Given the description of an element on the screen output the (x, y) to click on. 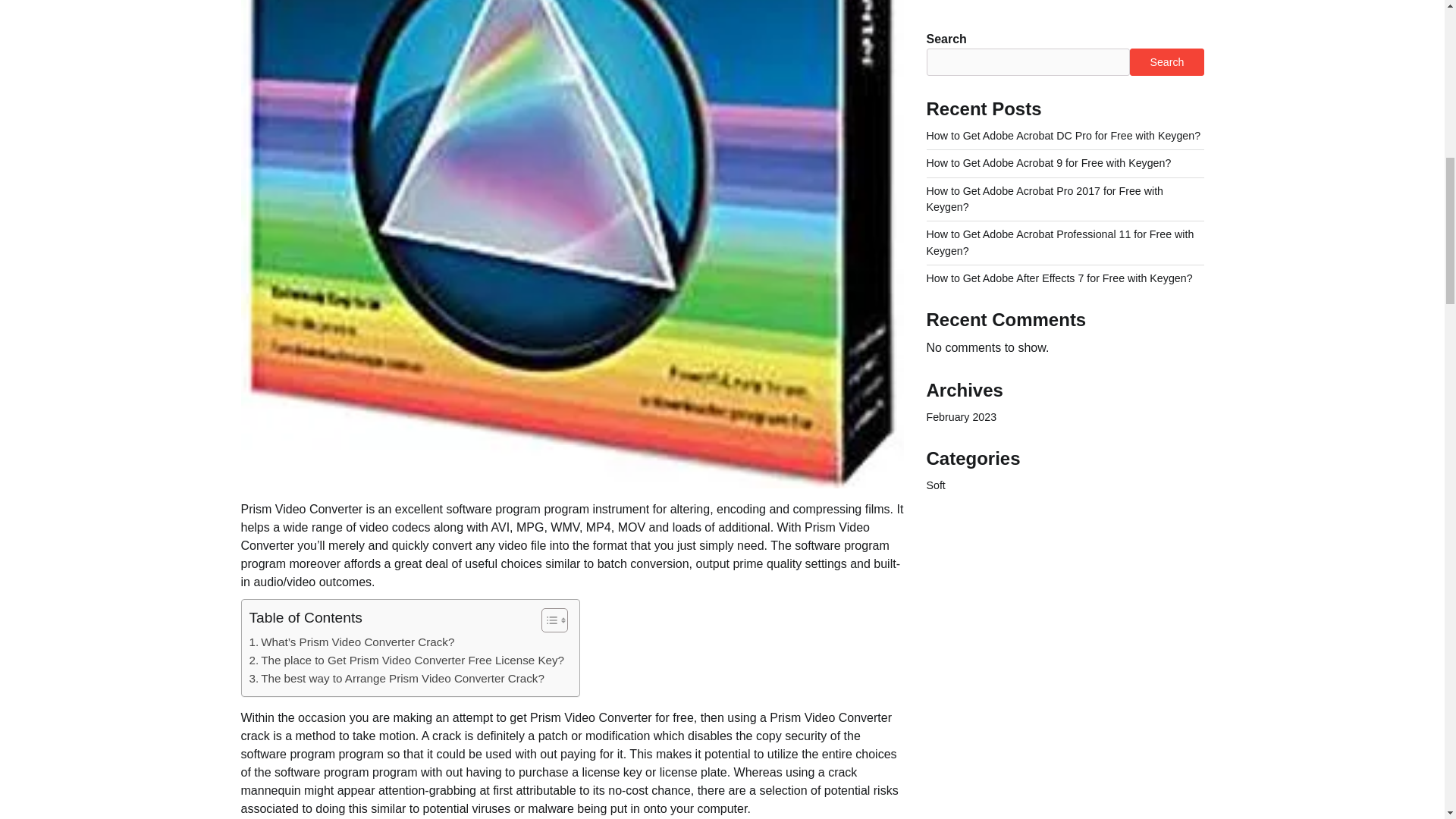
The best way to Arrange Prism Video Converter Crack? (395, 678)
The best way to Arrange Prism Video Converter Crack? (395, 678)
The place to Get Prism Video Converter Free License Key? (406, 660)
The place to Get Prism Video Converter Free License Key? (406, 660)
